Given the description of an element on the screen output the (x, y) to click on. 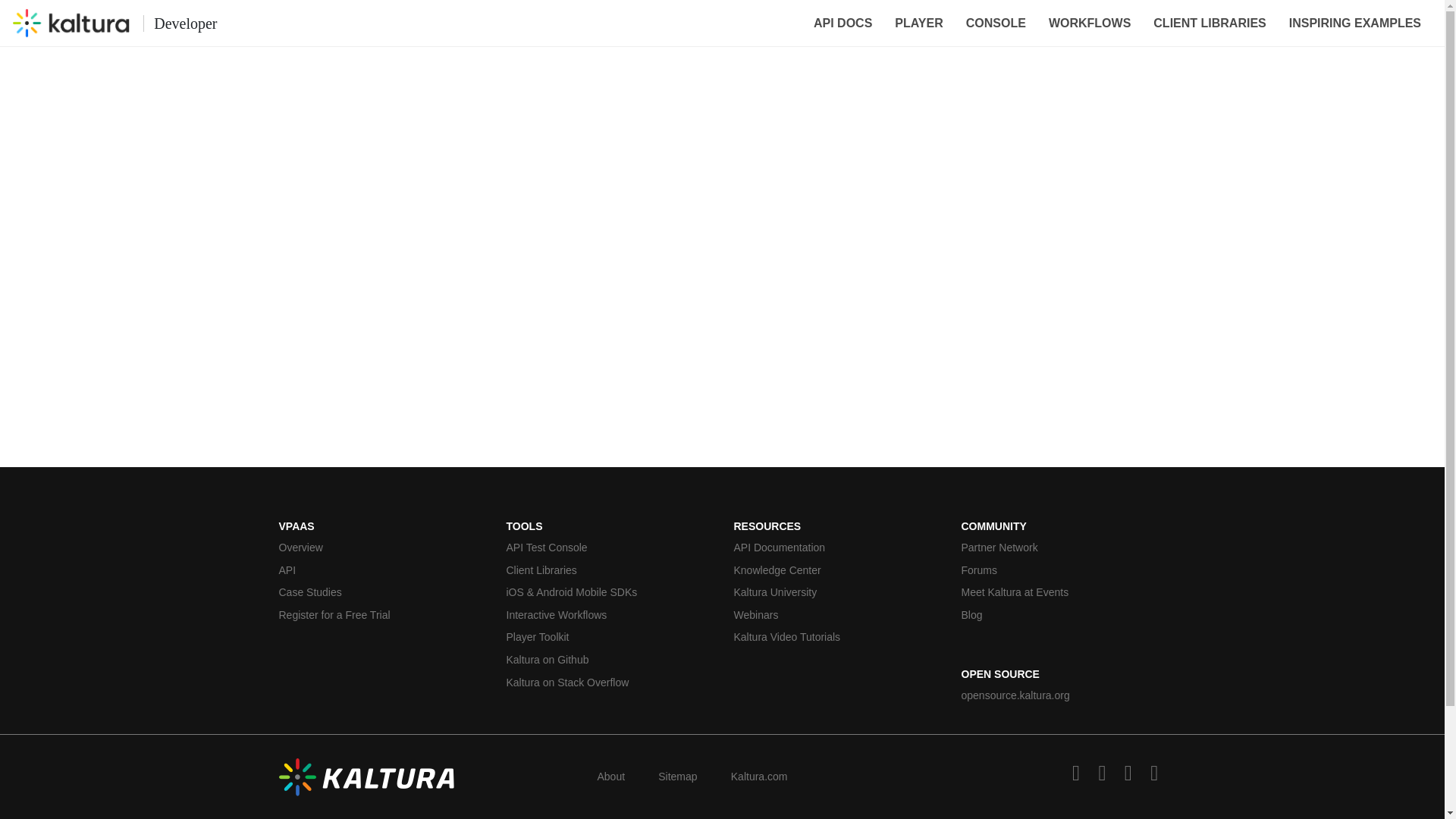
PLAYER (918, 22)
Kaltura on Stack Overflow (608, 683)
TOOLS (524, 526)
Kaltura University (836, 592)
Client Libraries (608, 570)
API Documentation (836, 548)
INSPIRING EXAMPLES (1355, 22)
Developer (113, 22)
Knowledge Center (836, 570)
Overview (381, 548)
CLIENT LIBRARIES (1208, 22)
Case Studies (381, 592)
Player Toolkit (608, 637)
API DOCS (842, 22)
WORKFLOWS (1088, 22)
